Given the description of an element on the screen output the (x, y) to click on. 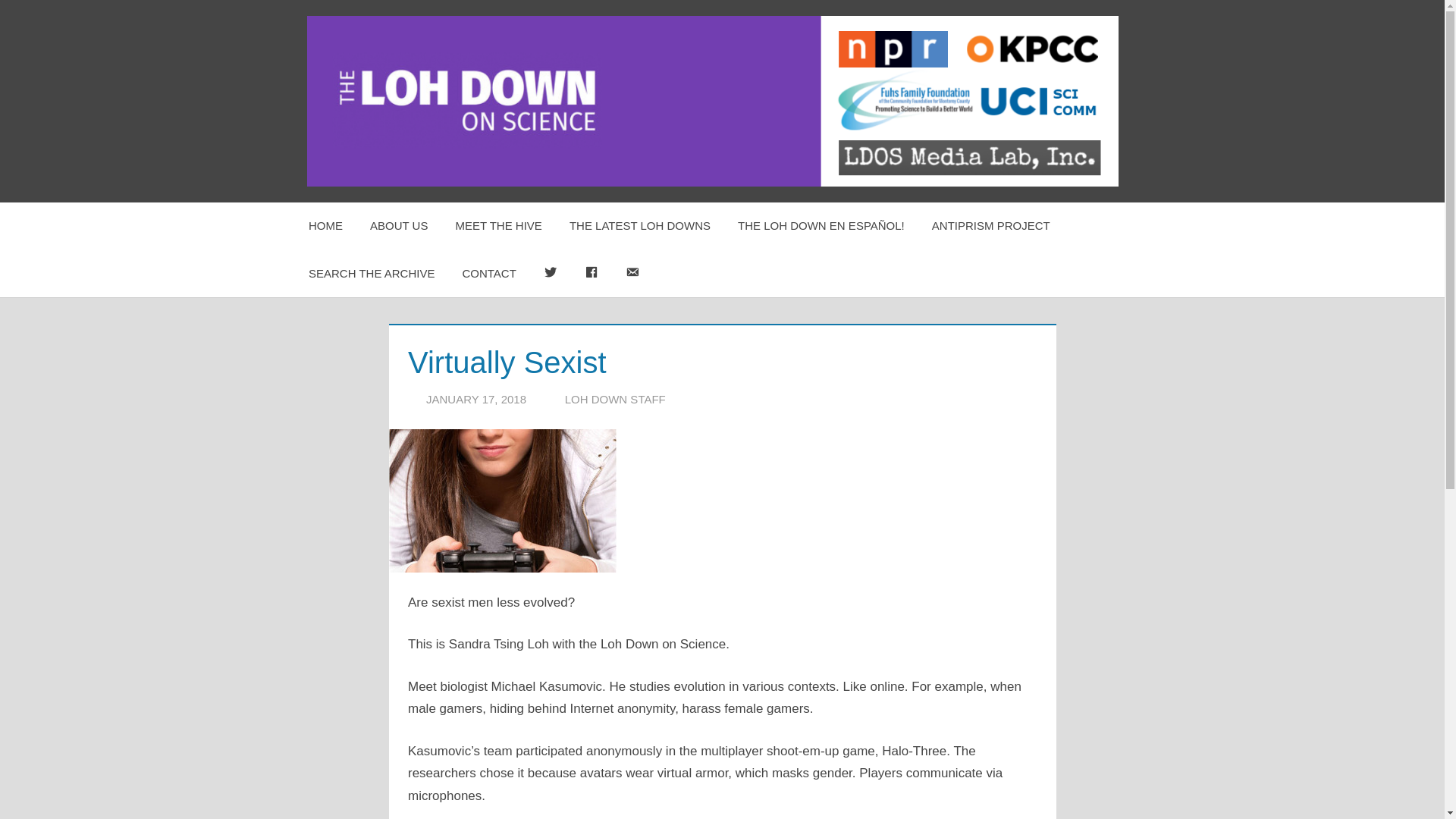
ABOUT US (398, 225)
MEET THE HIVE (497, 225)
THE LATEST LOH DOWNS (639, 225)
12:32 am (475, 399)
JANUARY 17, 2018 (475, 399)
ANTIPRISM PROJECT (991, 225)
SEARCH THE ARCHIVE (371, 273)
LOH DOWN STAFF (614, 399)
CONTACT (488, 273)
HOME (325, 225)
View all posts by Loh Down Staff (614, 399)
